Given the description of an element on the screen output the (x, y) to click on. 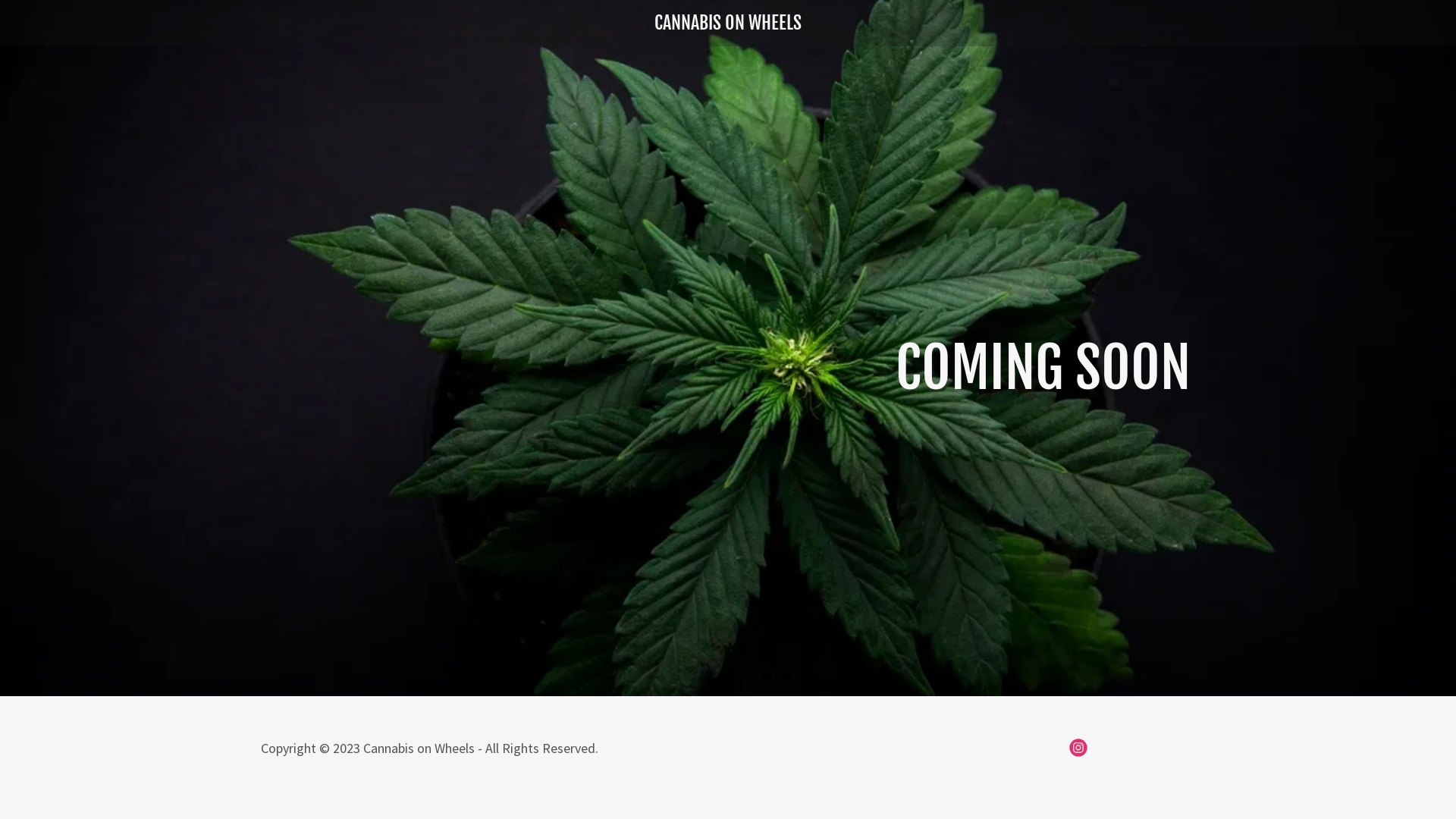
CANNABIS ON WHEELS Element type: text (727, 23)
